Given the description of an element on the screen output the (x, y) to click on. 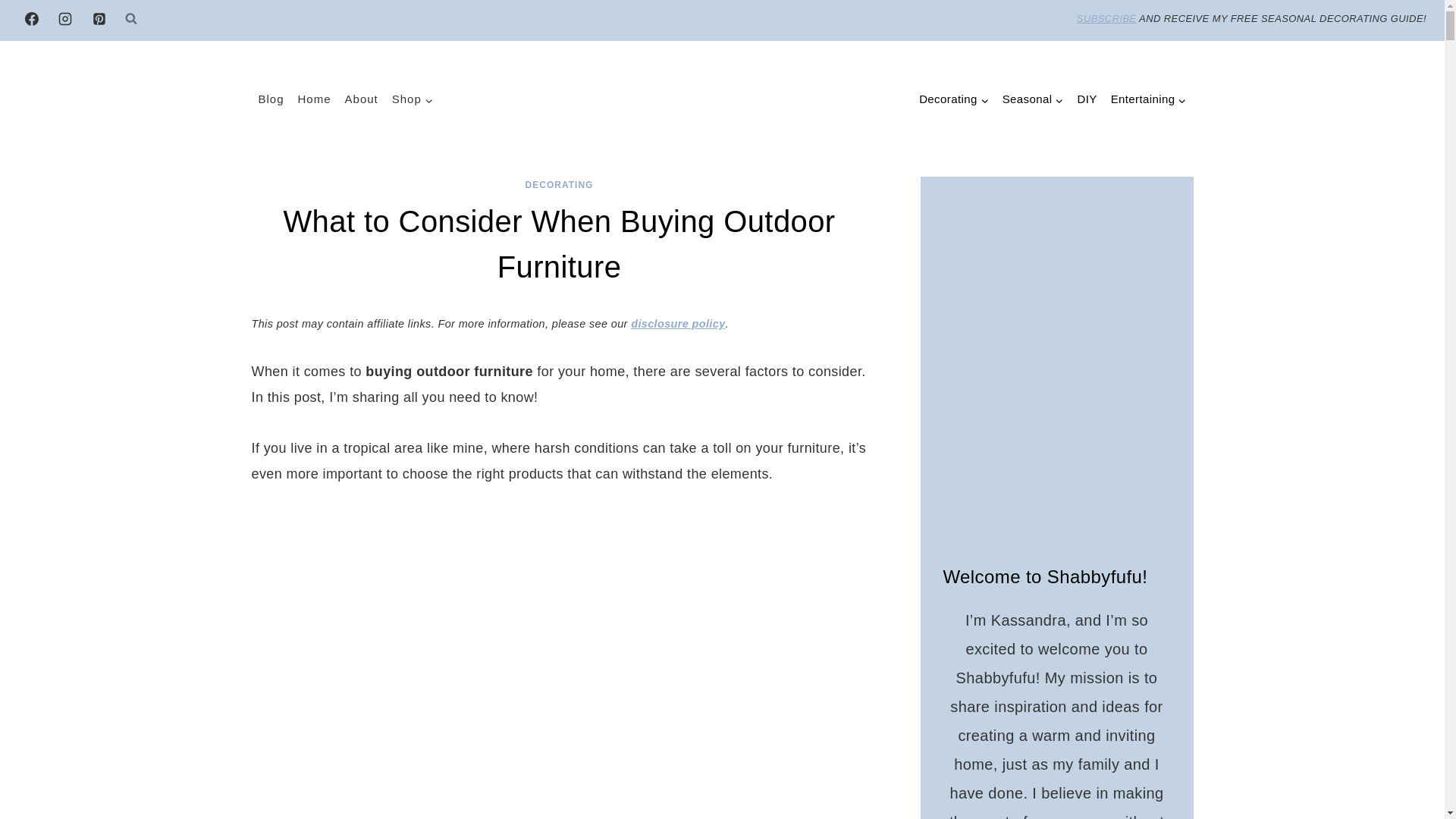
disclosure policy (677, 323)
Shop (412, 99)
About (361, 99)
Seasonal (1032, 99)
DIY (1086, 99)
Home (314, 99)
DECORATING (559, 184)
SUBSCRIBE (1107, 18)
Entertaining (1148, 99)
Decorating (953, 99)
